Given the description of an element on the screen output the (x, y) to click on. 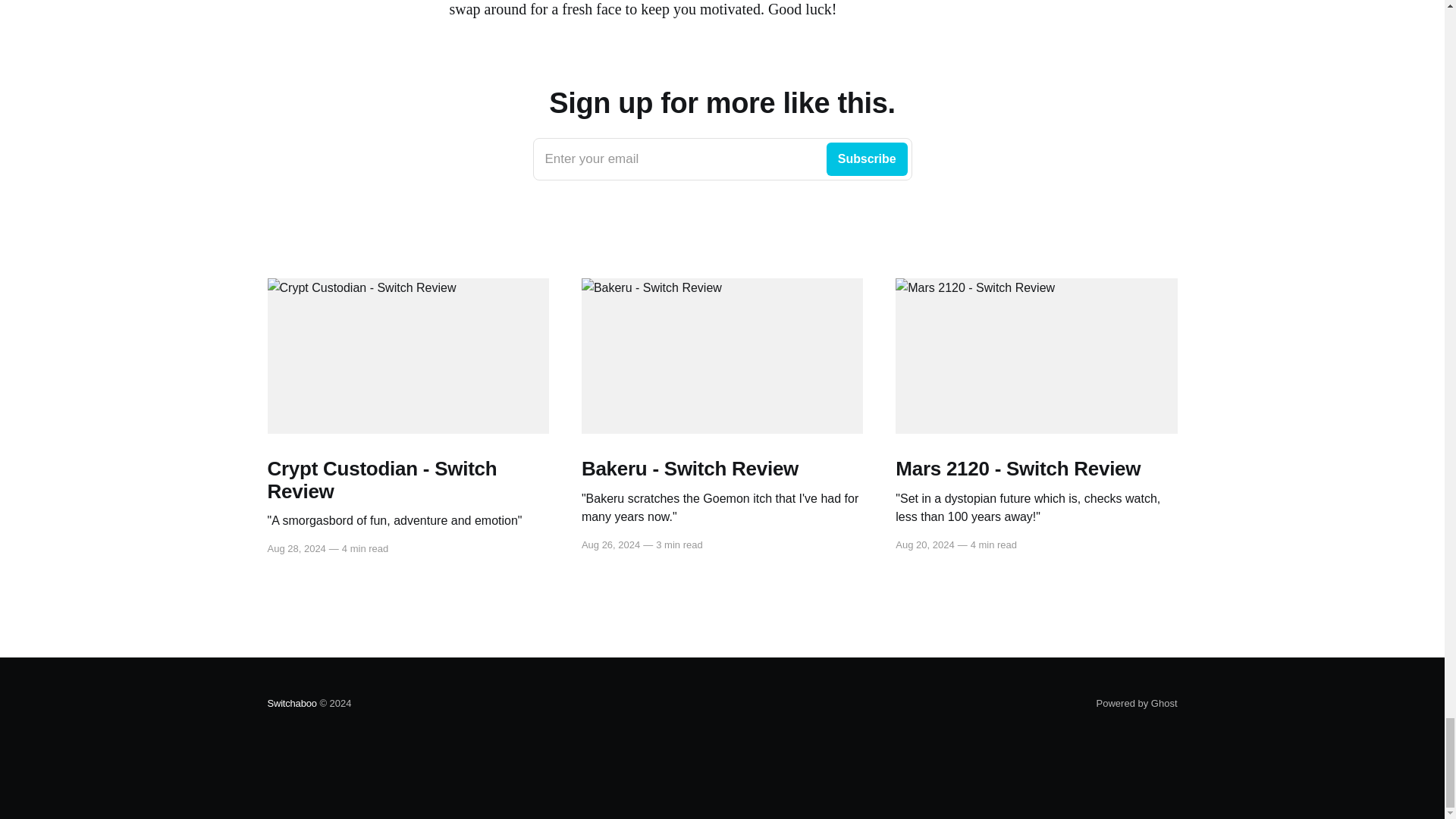
Switchaboo (290, 703)
Powered by Ghost (1136, 703)
